Given the description of an element on the screen output the (x, y) to click on. 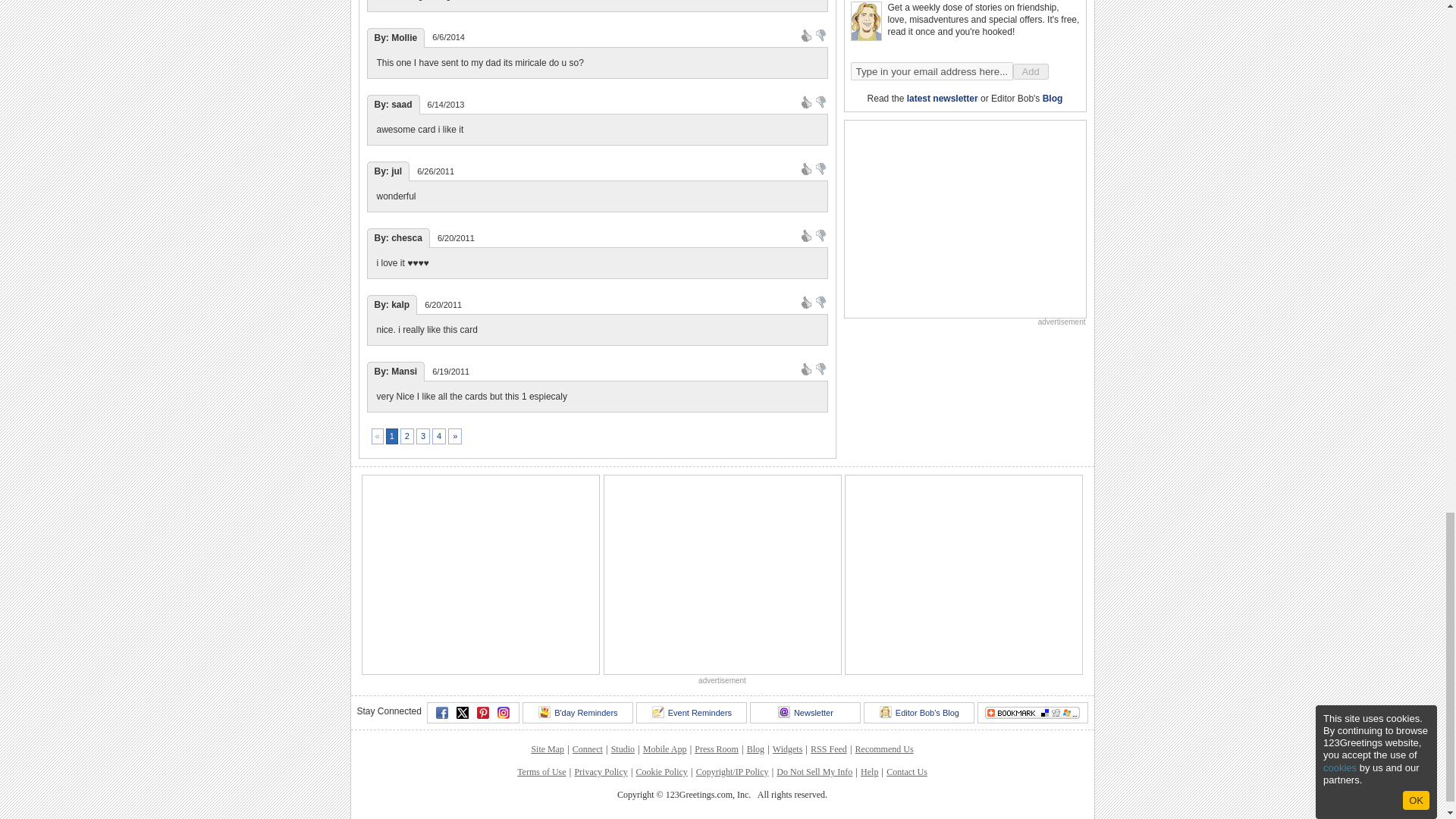
Type in your email address here... (931, 71)
